Given the description of an element on the screen output the (x, y) to click on. 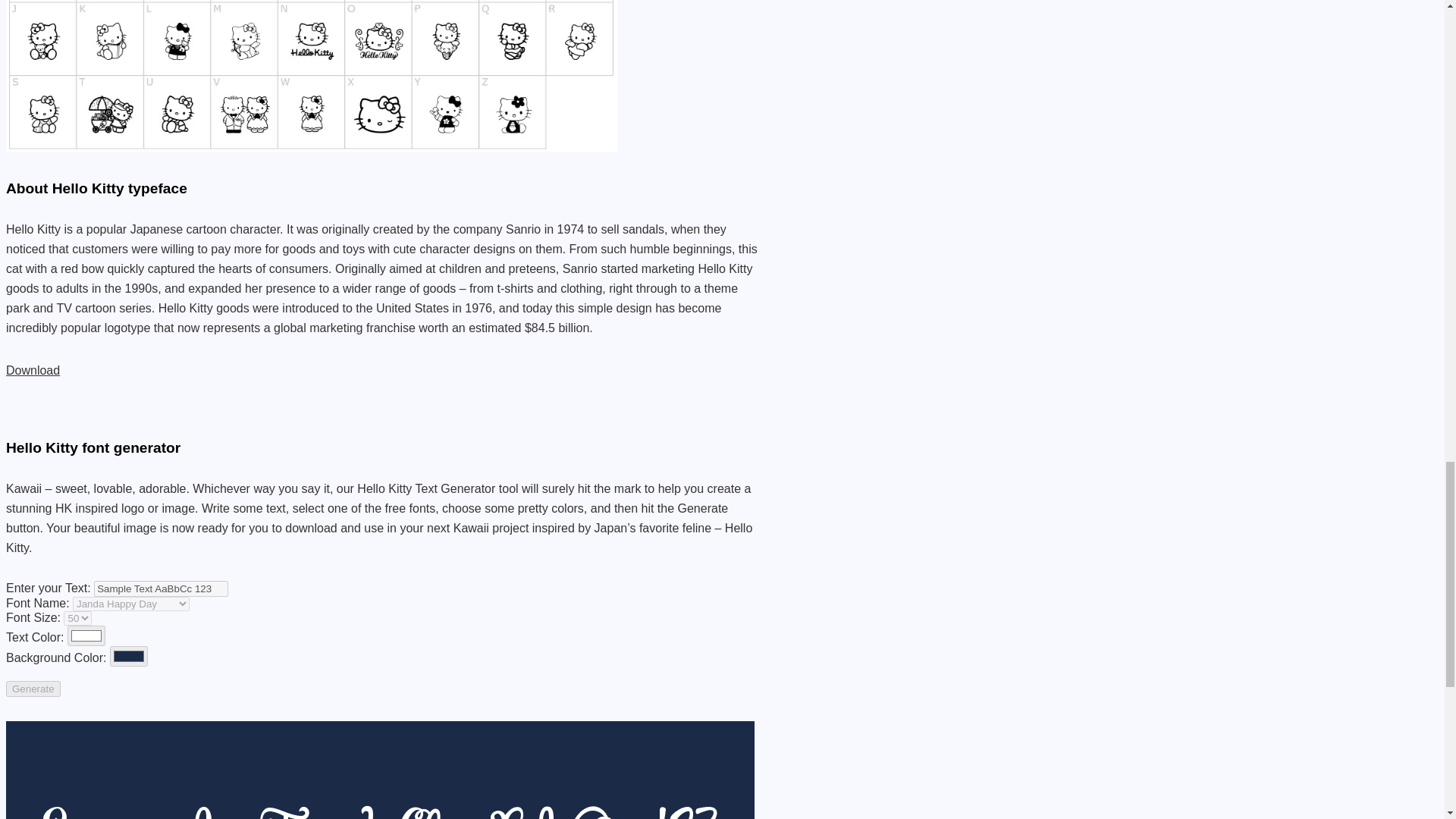
Choose your color (129, 656)
Generate (33, 688)
Sample Text AaBbCc 123 (161, 588)
Choose your color (85, 635)
Download (32, 369)
